Given the description of an element on the screen output the (x, y) to click on. 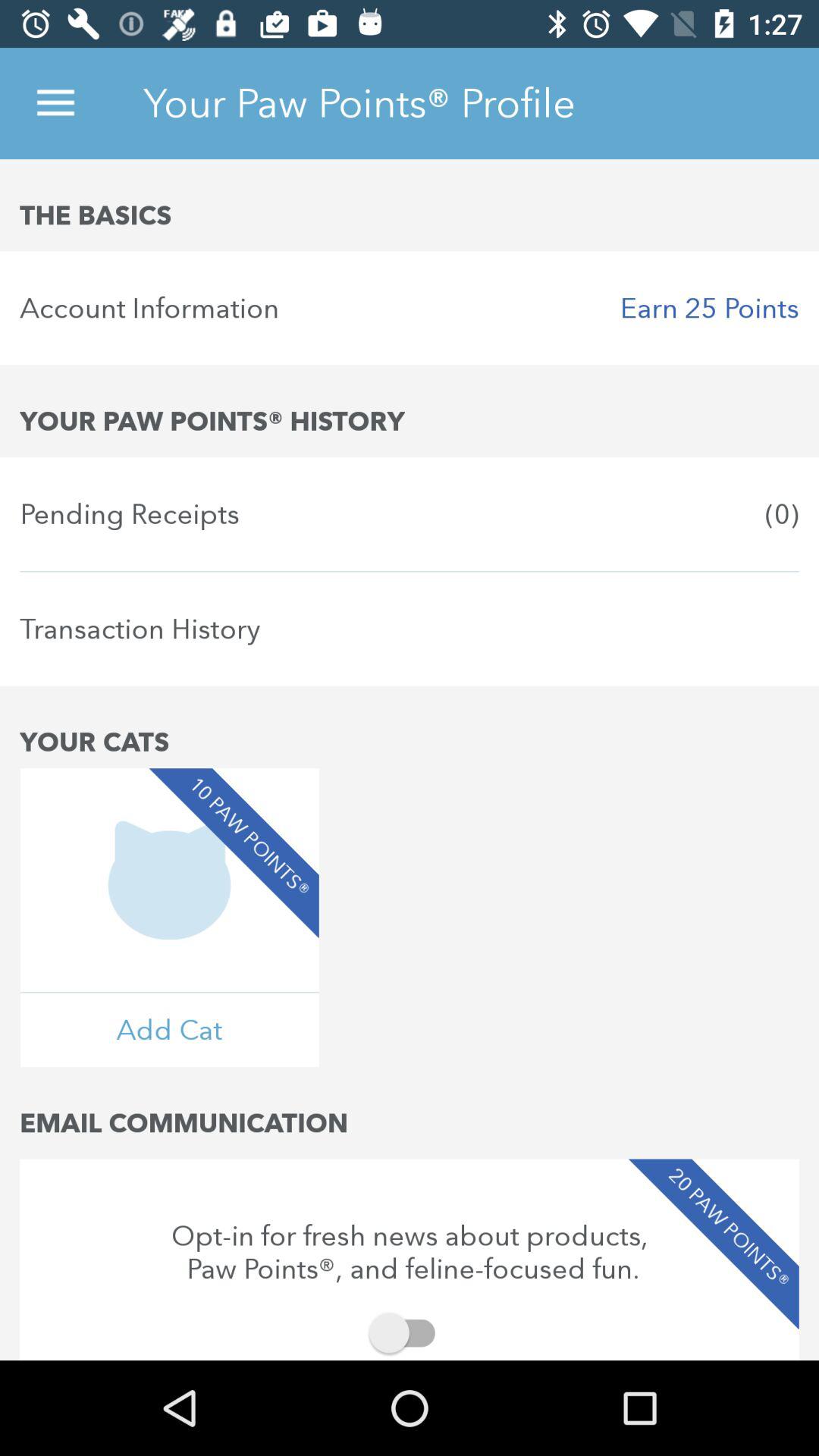
turn on the icon below the basics icon (409, 308)
